Given the description of an element on the screen output the (x, y) to click on. 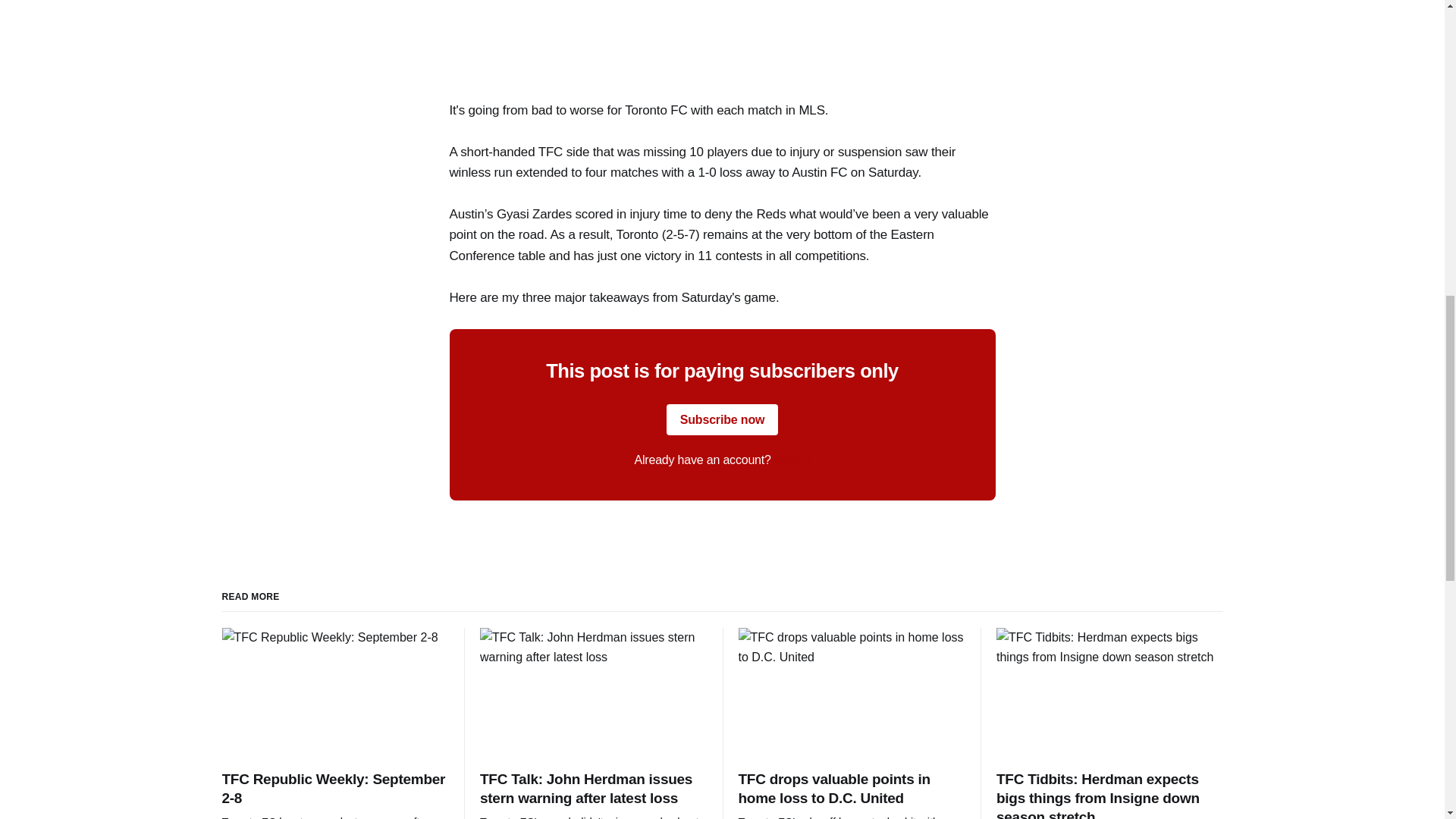
Sign in (792, 459)
Subscribe now (722, 419)
